Given the description of an element on the screen output the (x, y) to click on. 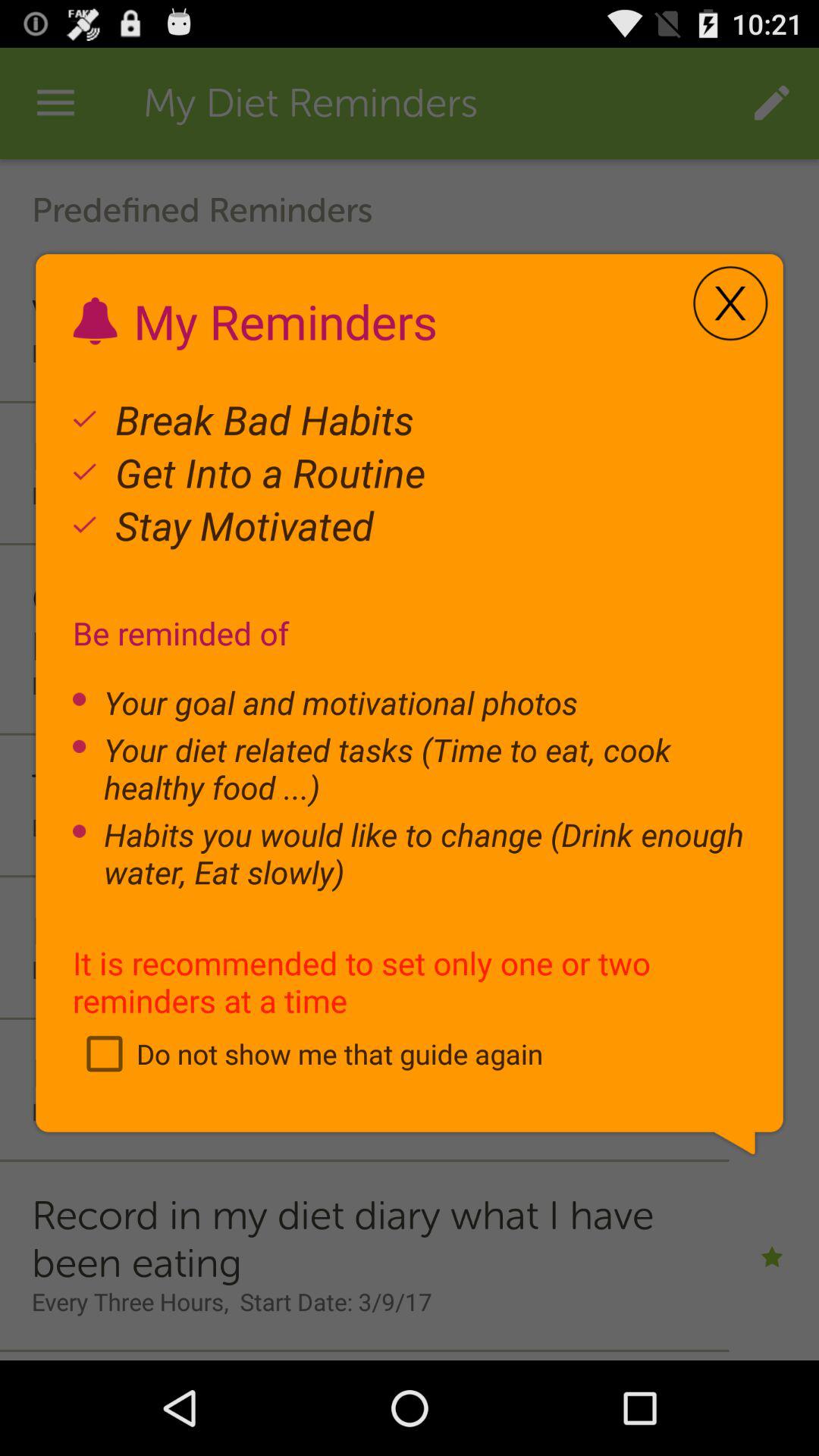
turn off the icon next to my reminders (730, 303)
